Given the description of an element on the screen output the (x, y) to click on. 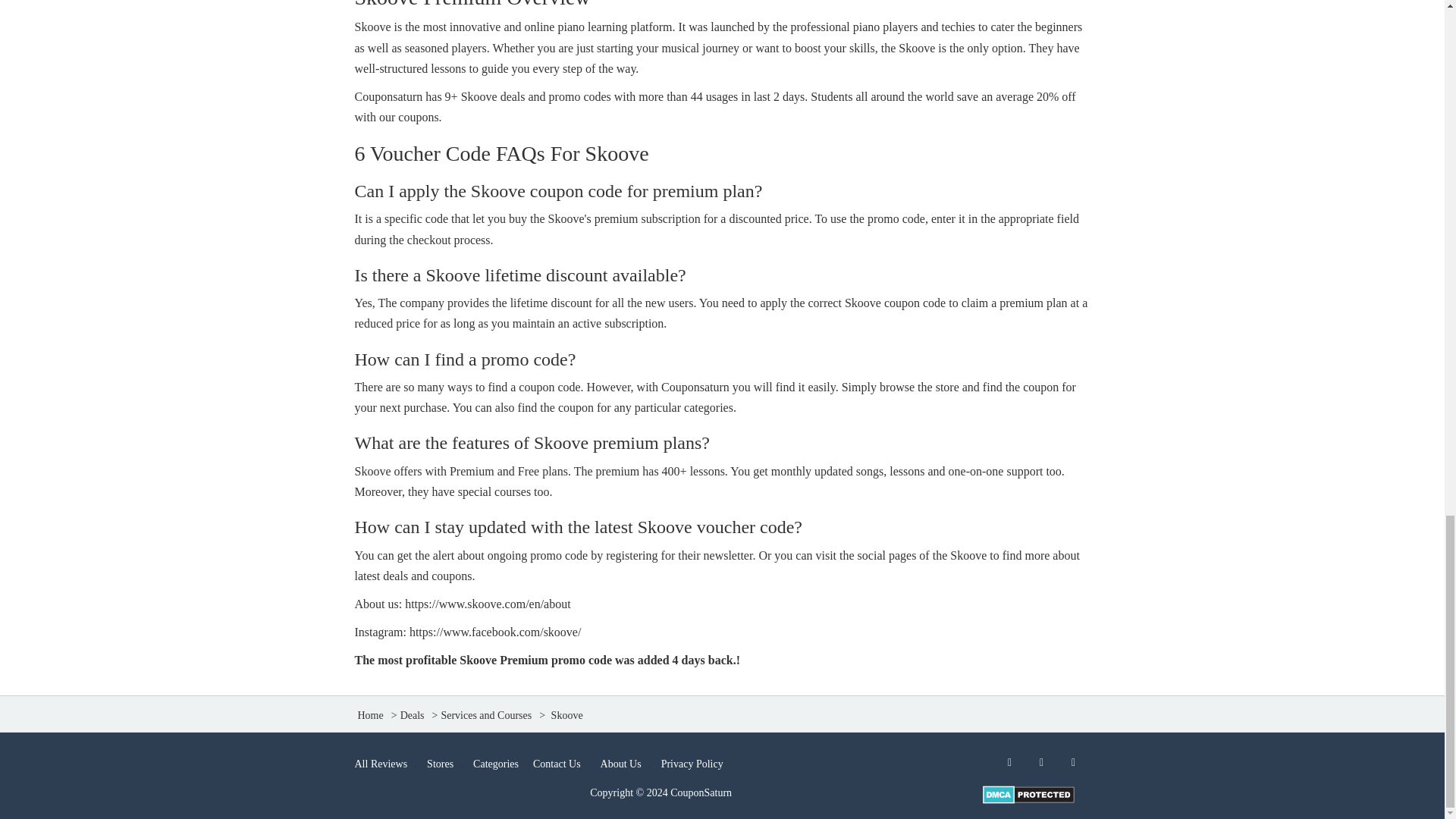
Instagram (1073, 762)
Twitter (1041, 762)
Facebook (1009, 762)
